Given the description of an element on the screen output the (x, y) to click on. 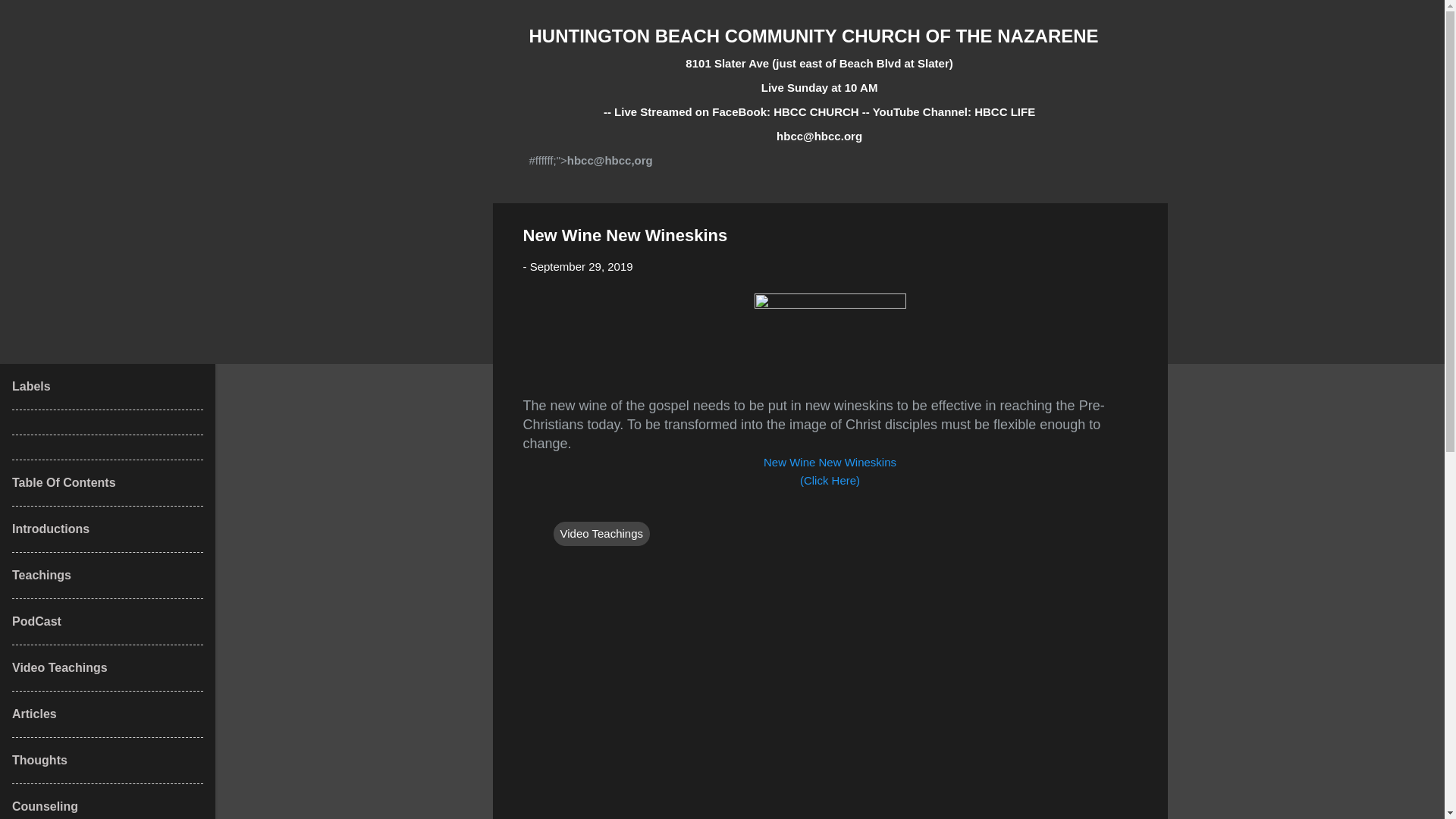
Video Teachings (601, 533)
permanent link (581, 266)
September 29, 2019 (581, 266)
HUNTINGTON BEACH COMMUNITY CHURCH OF THE NAZARENE (814, 35)
New Wine New Wineskins (829, 461)
Search (29, 18)
